Given the description of an element on the screen output the (x, y) to click on. 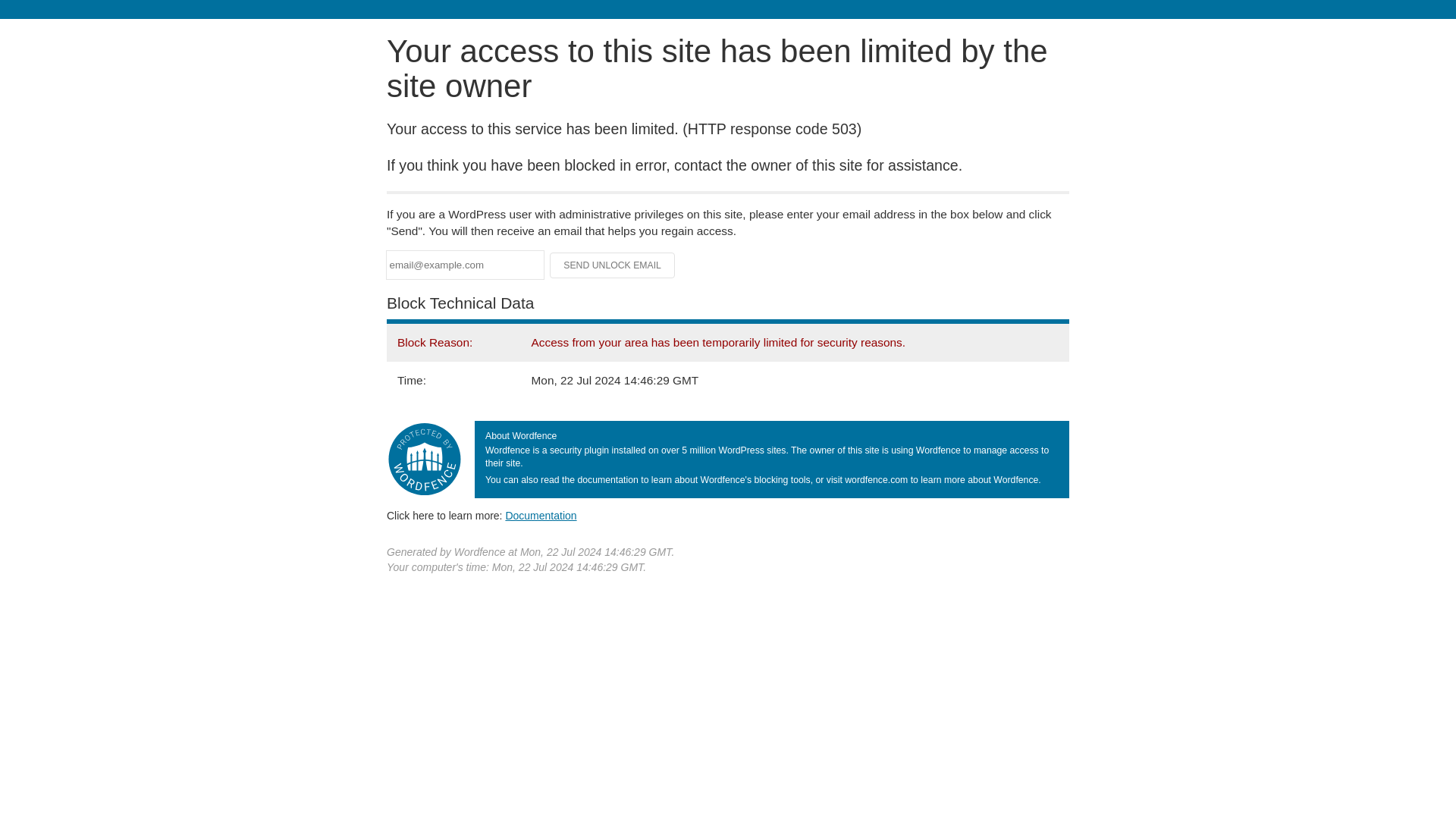
Send Unlock Email (612, 265)
Send Unlock Email (612, 265)
Documentation (540, 515)
